Given the description of an element on the screen output the (x, y) to click on. 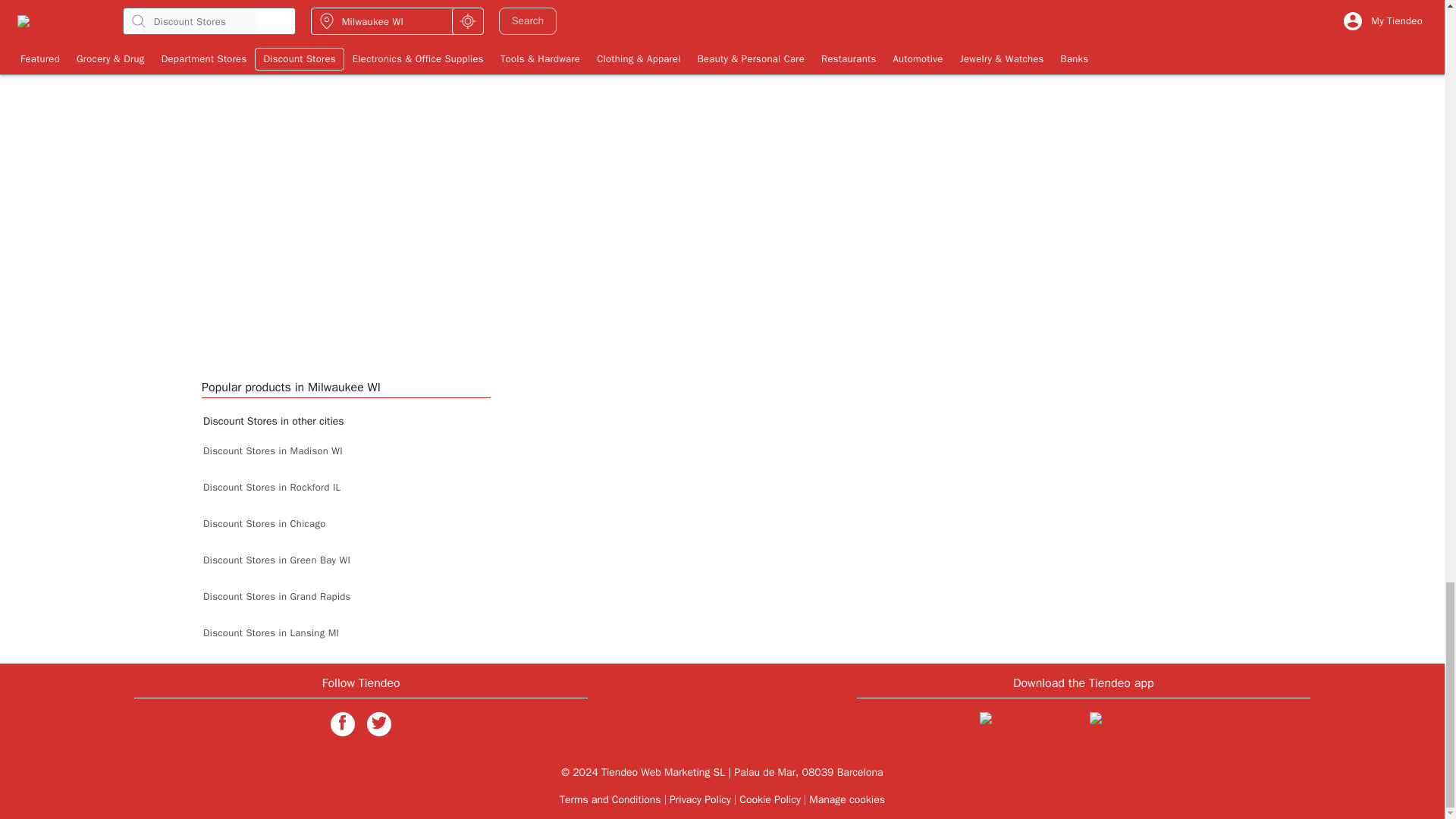
iOS App (1028, 726)
twitter (378, 723)
facebook (342, 723)
Android App (1138, 726)
